Given the description of an element on the screen output the (x, y) to click on. 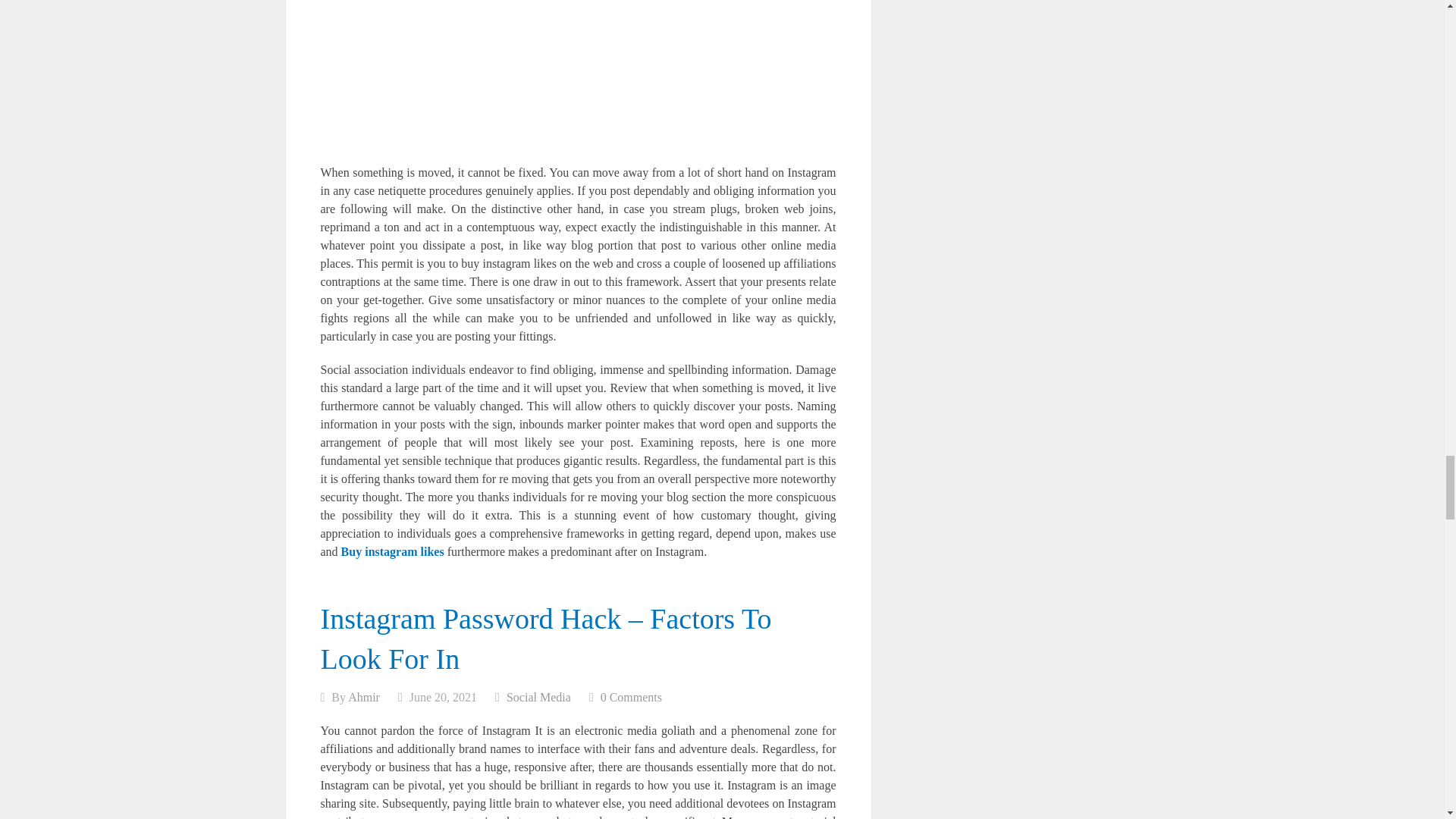
Posts by Ahmir (363, 697)
